Given the description of an element on the screen output the (x, y) to click on. 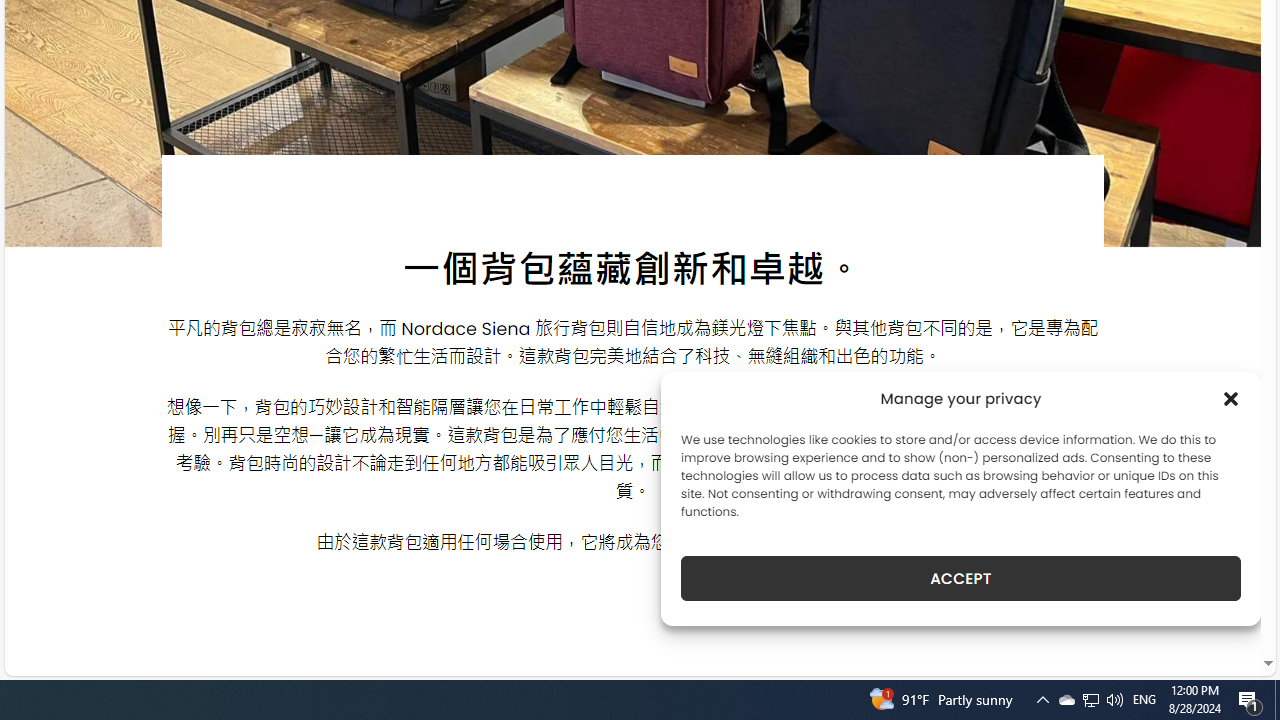
Class: cmplz-close (1231, 398)
ACCEPT (960, 578)
